Given the description of an element on the screen output the (x, y) to click on. 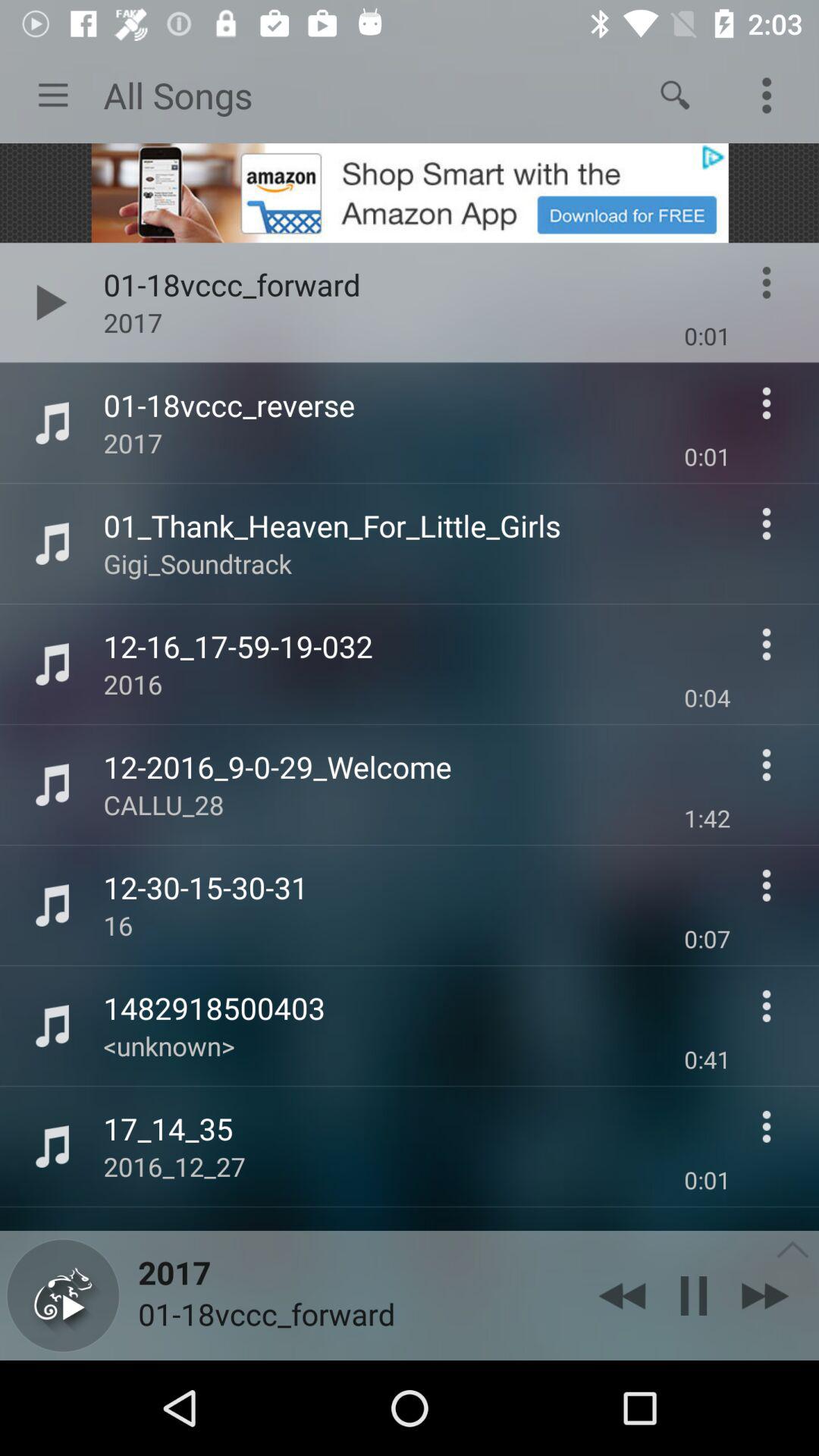
banner advertisement (409, 192)
